Given the description of an element on the screen output the (x, y) to click on. 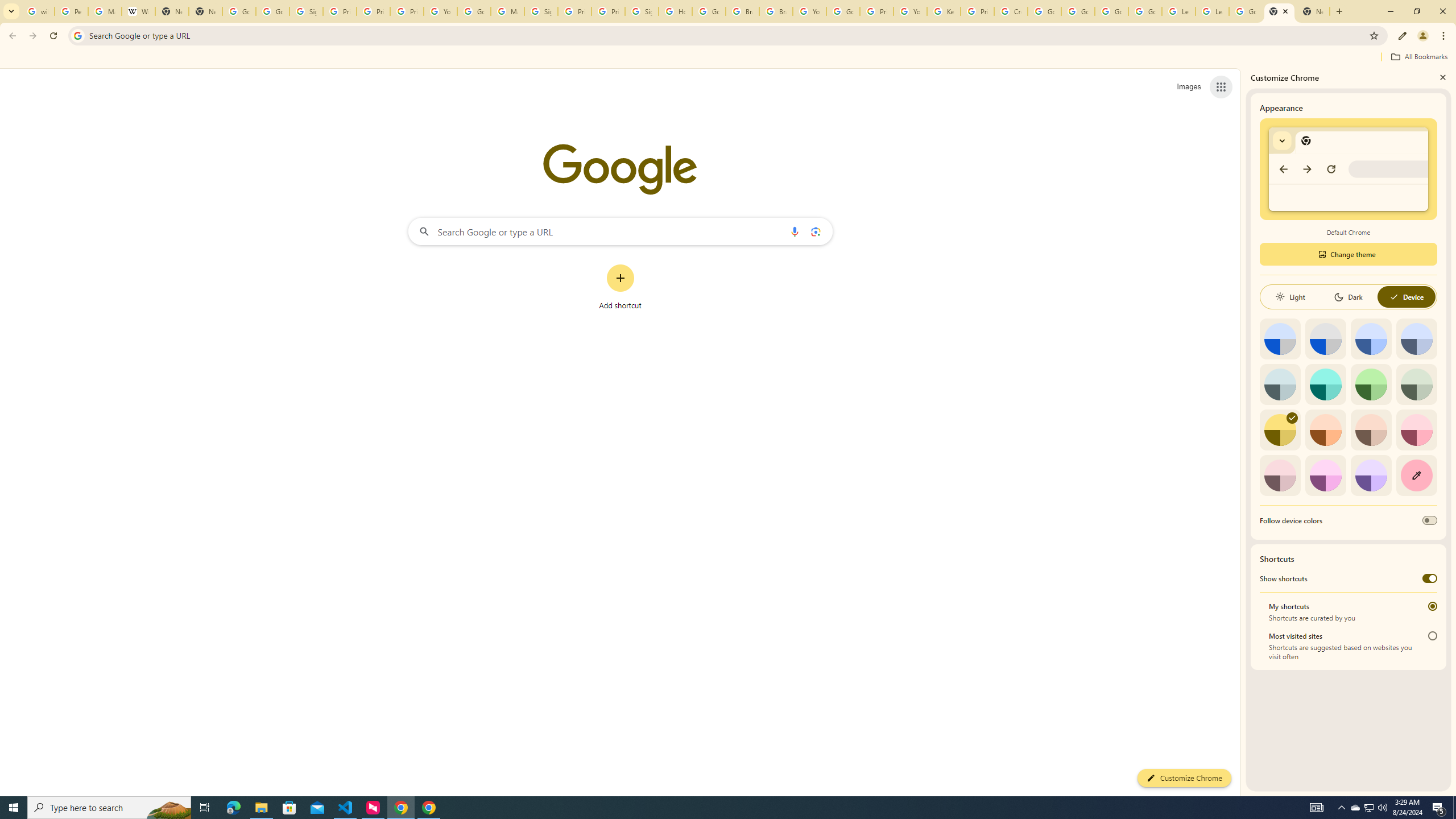
Rose (1416, 429)
Grey (1279, 383)
Fuchsia (1325, 475)
Search by image (816, 230)
Brand Resource Center (742, 11)
Create your Google Account (1010, 11)
Aqua (1325, 383)
Search by voice (794, 230)
Apricot (1371, 429)
